Given the description of an element on the screen output the (x, y) to click on. 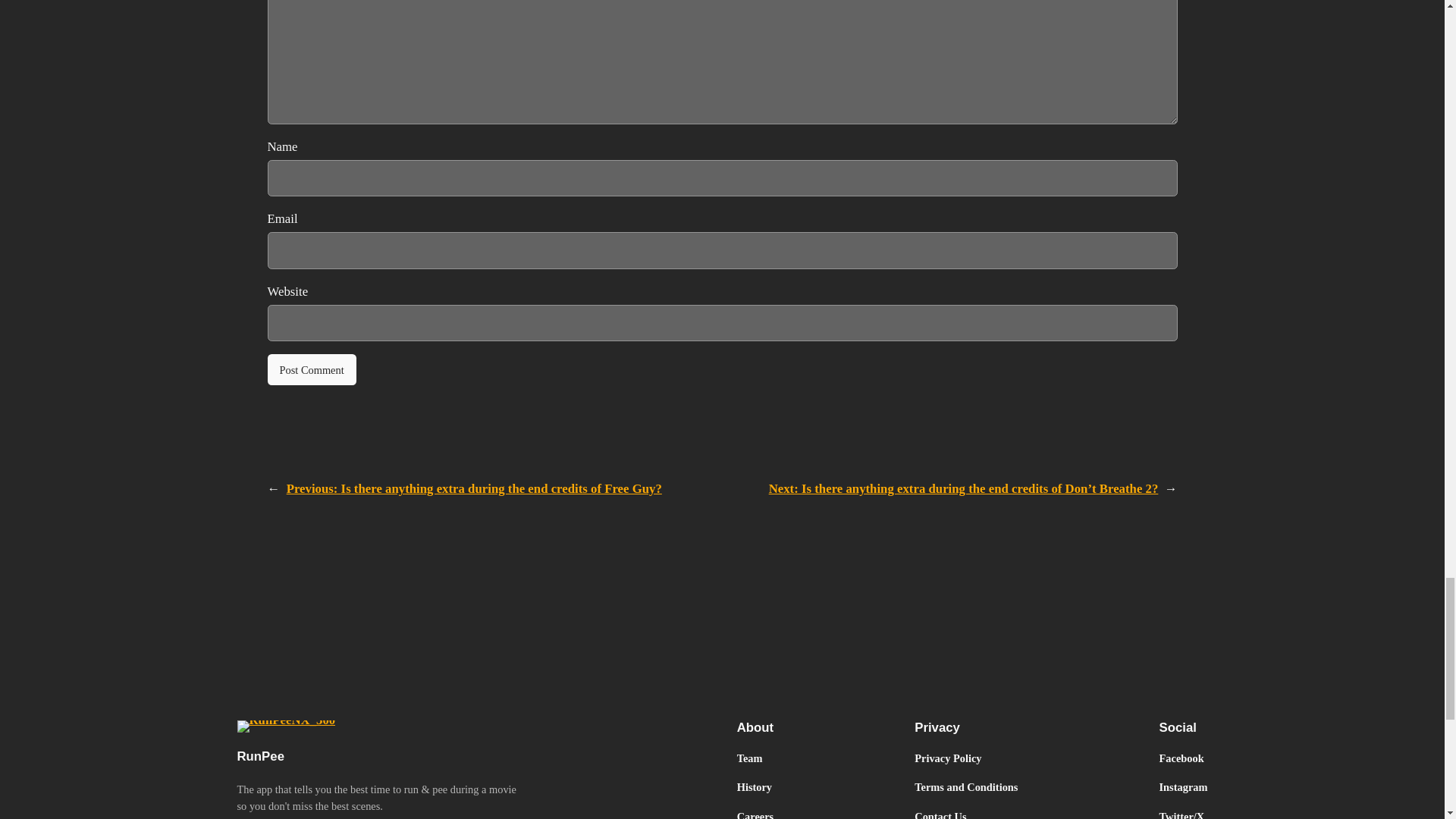
Careers (754, 813)
Team (749, 758)
Terms and Conditions (965, 786)
RunPee (259, 756)
Privacy Policy (947, 758)
Facebook (1181, 758)
Contact Us (940, 813)
Post Comment (310, 369)
Post Comment (310, 369)
History (753, 786)
